Given the description of an element on the screen output the (x, y) to click on. 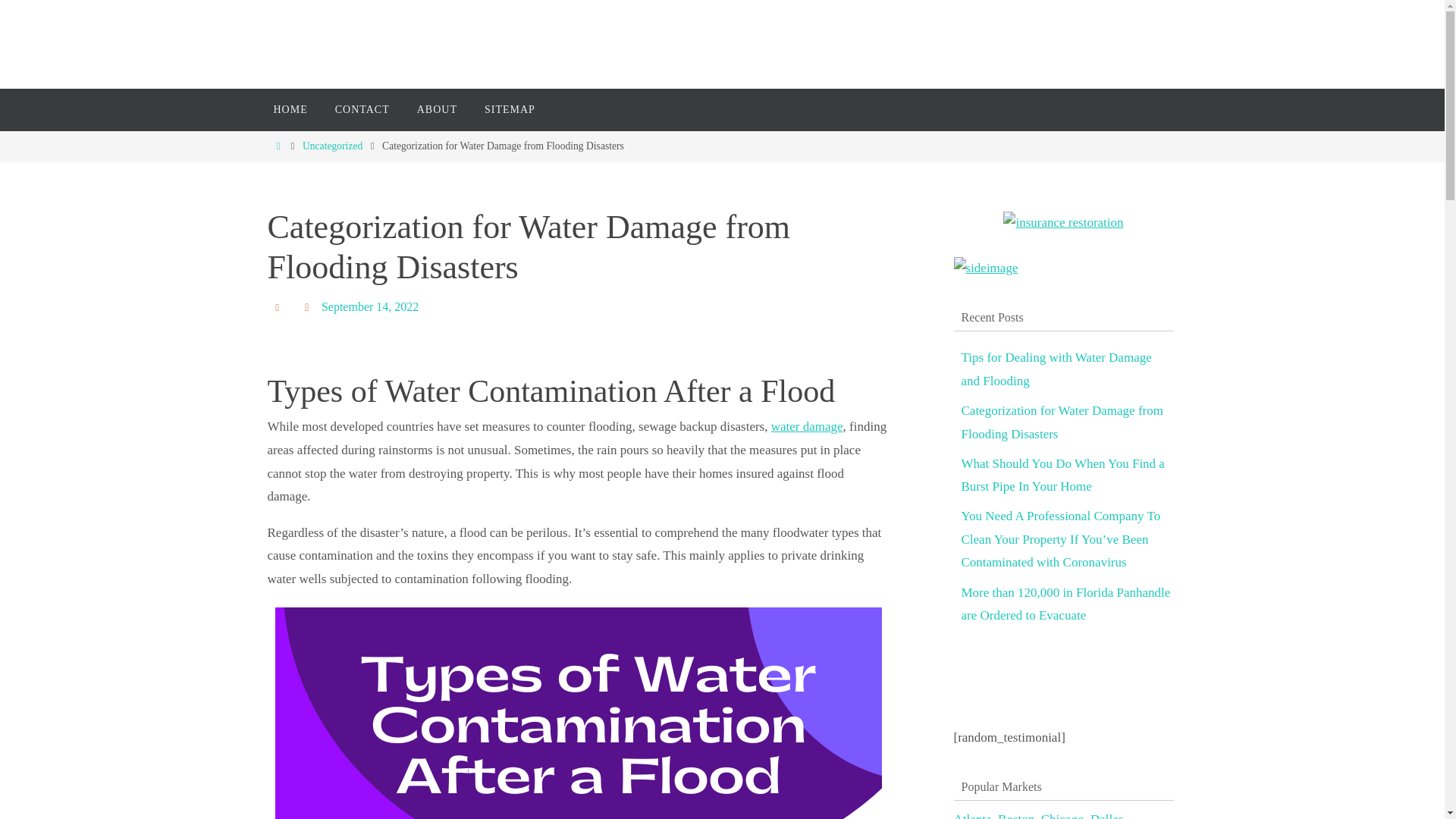
SITEMAP (509, 109)
HOME (289, 109)
What Should You Do When You Find a Burst Pipe In Your Home (1062, 475)
Home (277, 145)
water damage (807, 426)
DMCA.com Protection Status (1037, 713)
Chicago (1062, 815)
Uncategorized (332, 145)
Date (308, 306)
Categorization for Water Damage from Flooding Disasters (1061, 422)
Dallas (1106, 815)
CONTACT (362, 109)
